Given the description of an element on the screen output the (x, y) to click on. 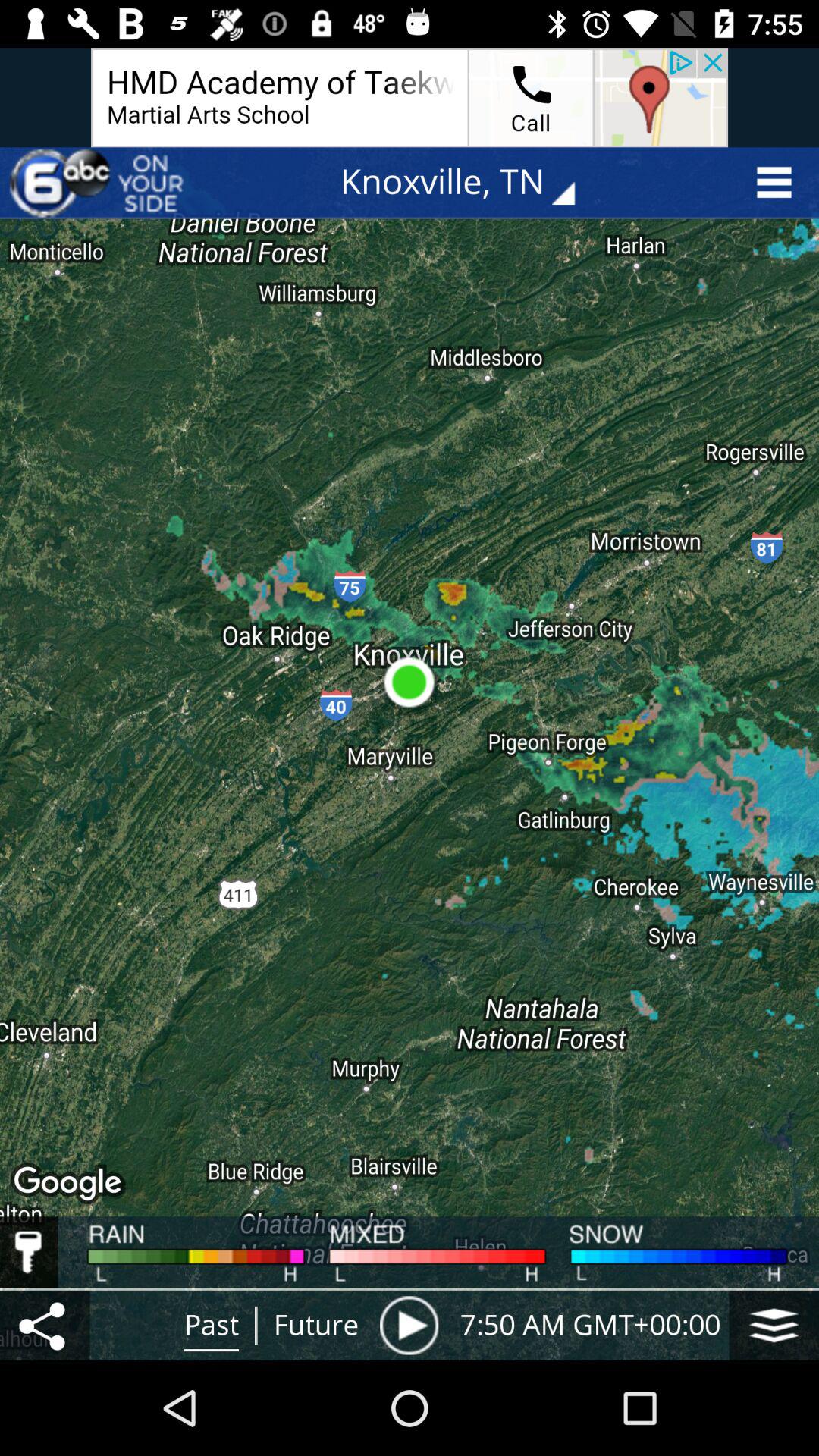
click the play icon at the bottom of the page (409, 1324)
click on the symbol below snow at the bottom (774, 1324)
click on play icon which is at the right side of future (409, 1324)
select the text right to share icon at the bottom of the page (211, 1325)
click on the menu icon at the top right corner of the page (778, 181)
click on past (211, 1325)
click on future (315, 1325)
